Given the description of an element on the screen output the (x, y) to click on. 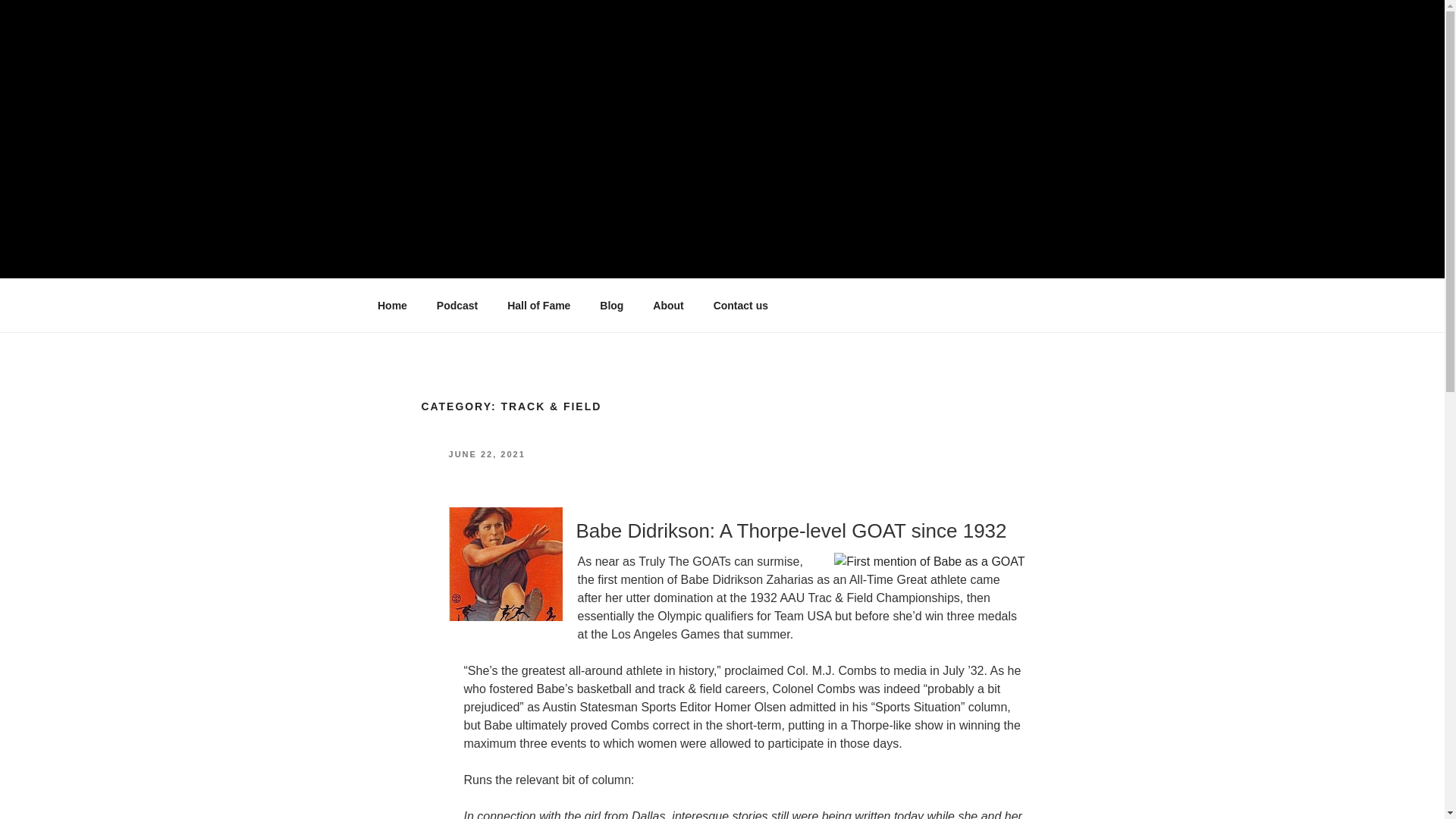
About (668, 305)
Hall of Fame (539, 305)
Contact us (740, 305)
Blog (611, 305)
Podcast (456, 305)
Babe Didrikson: A Thorpe-level GOAT since 1932 (791, 530)
JUNE 22, 2021 (486, 453)
Home (392, 305)
